Given the description of an element on the screen output the (x, y) to click on. 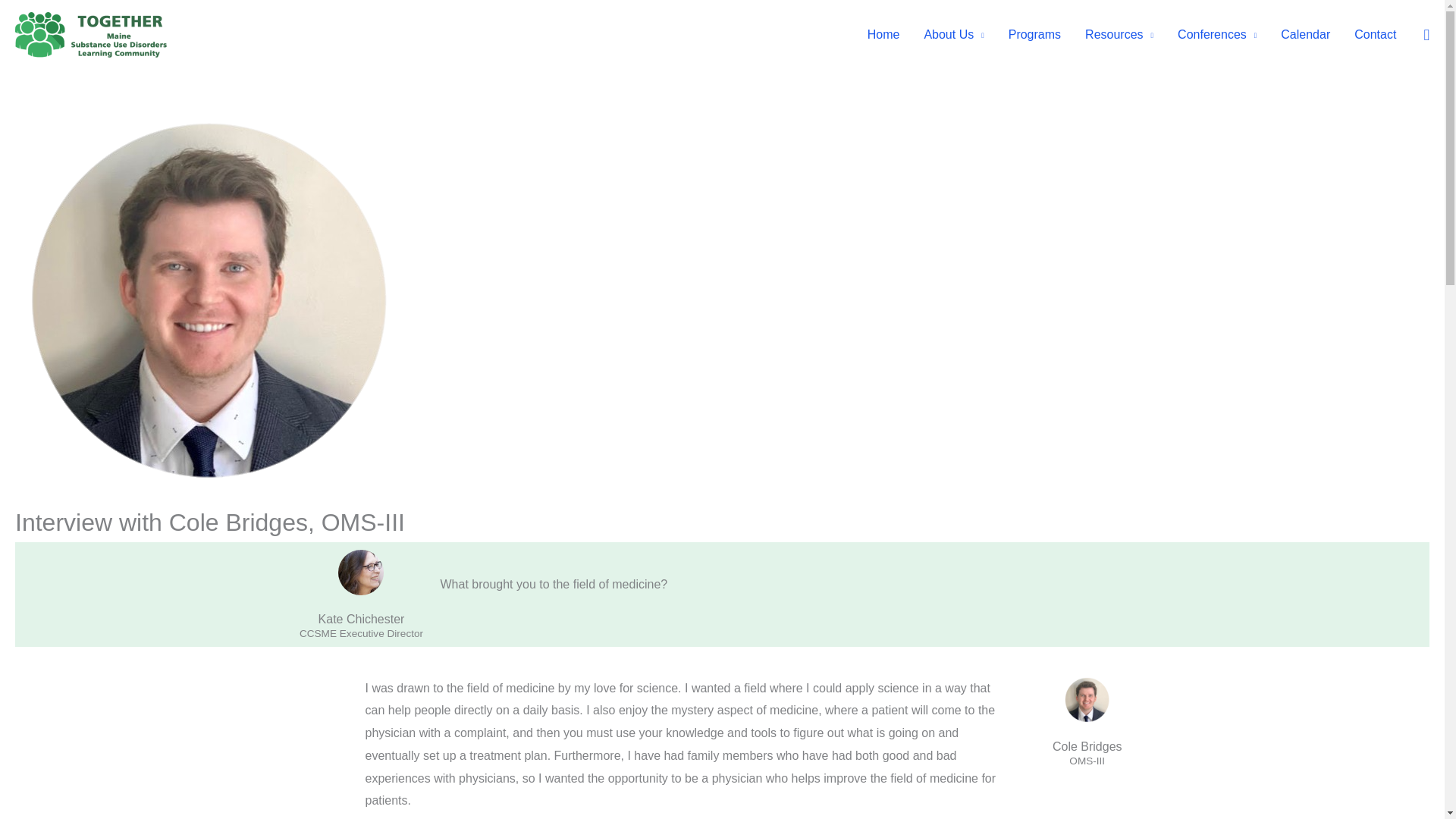
Contact (1374, 34)
Home (884, 34)
Programs (1034, 34)
Calendar (1305, 34)
About Us (953, 34)
Conferences (1217, 34)
Resources (1119, 34)
Search (60, 28)
